Given the description of an element on the screen output the (x, y) to click on. 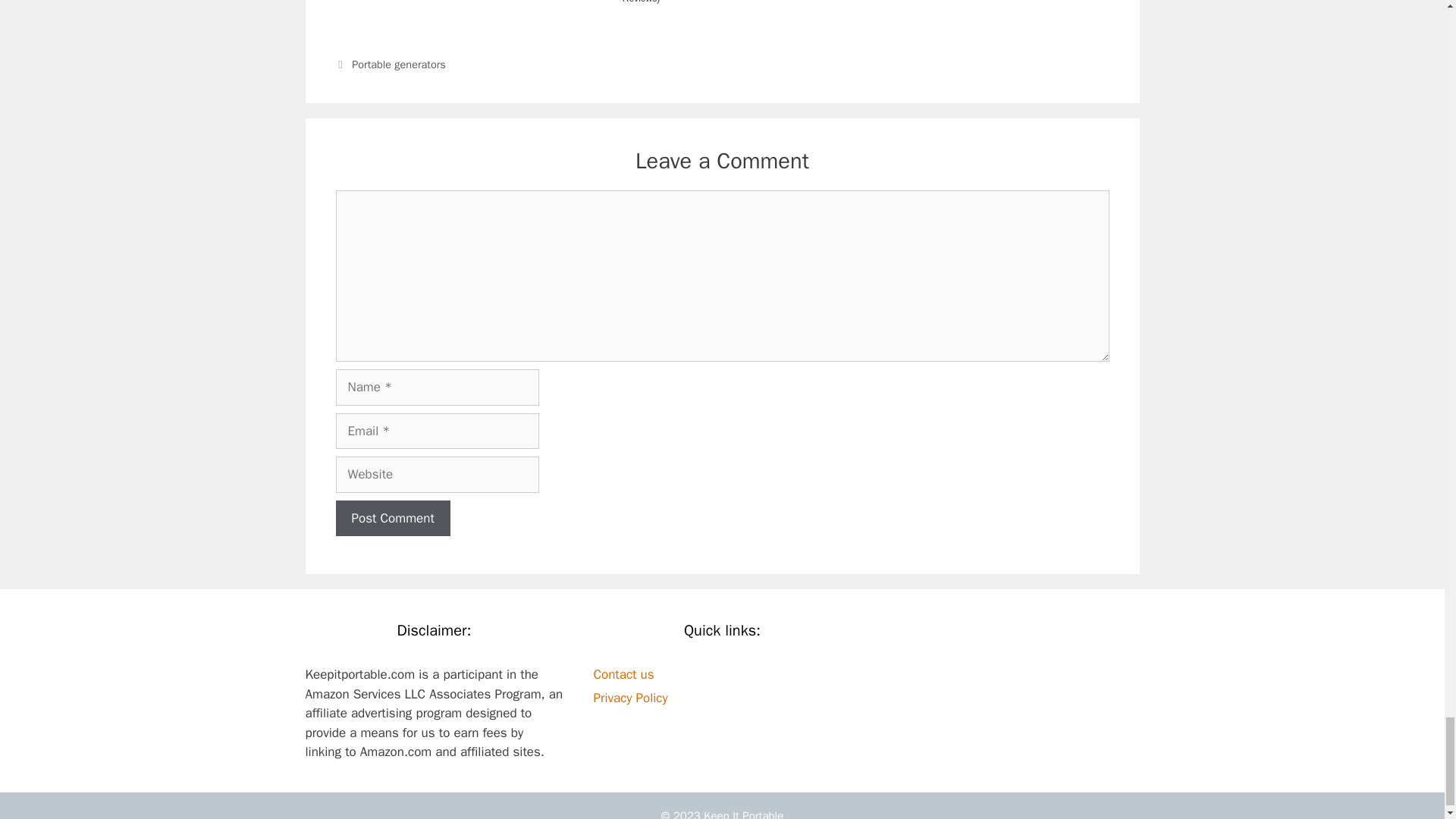
Contact us (622, 674)
Privacy Policy (629, 697)
Portable generators (398, 64)
Post Comment (391, 518)
Post Comment (391, 518)
